Given the description of an element on the screen output the (x, y) to click on. 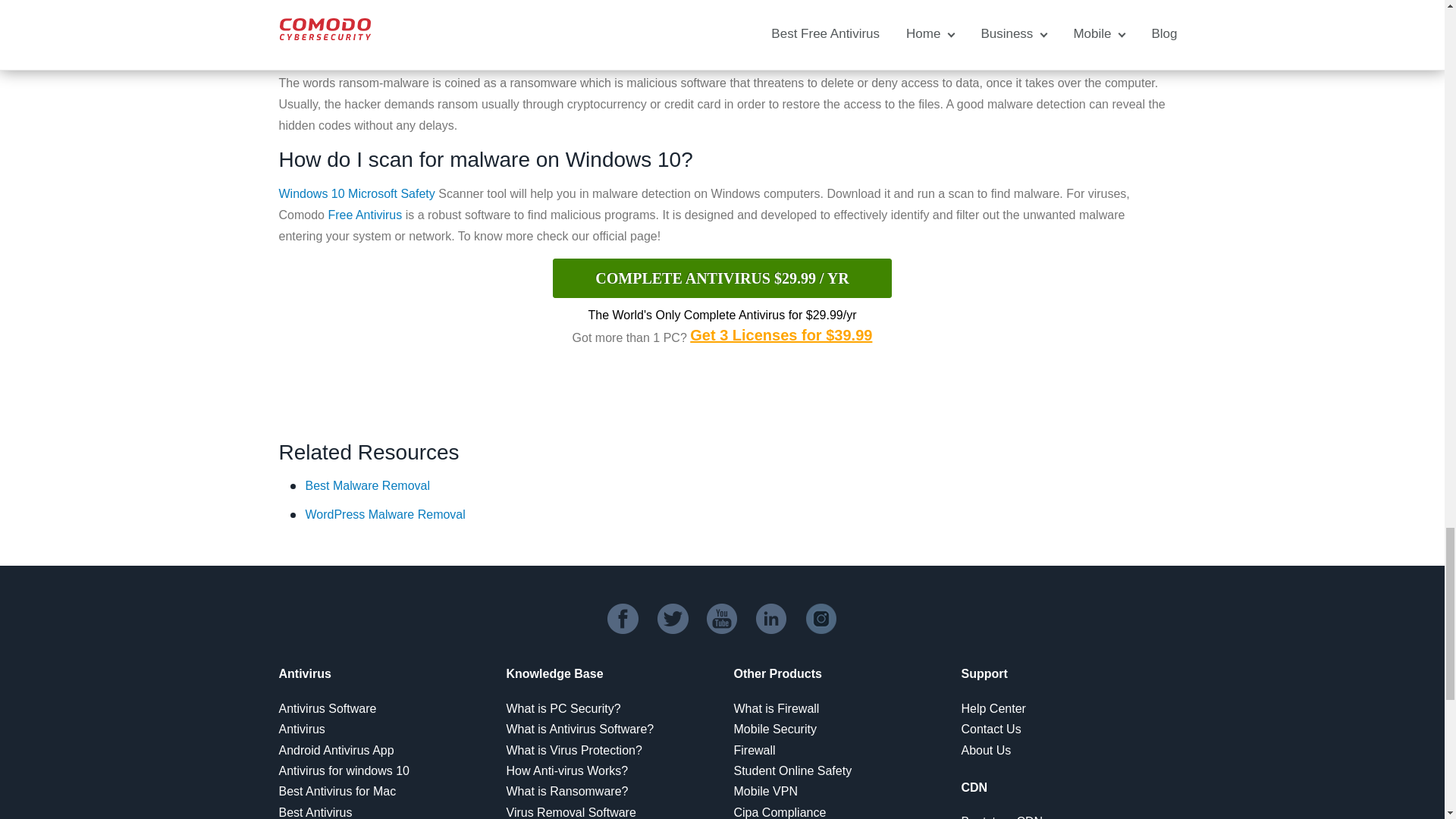
Free Antivirus (364, 214)
WordPress Malware Removal (384, 513)
facebook (623, 618)
Best Malware Removal (366, 485)
twitter (673, 618)
linkedin (771, 618)
Windows 10 Microsoft Safety (357, 193)
instagram (821, 618)
youtube (722, 618)
